Given the description of an element on the screen output the (x, y) to click on. 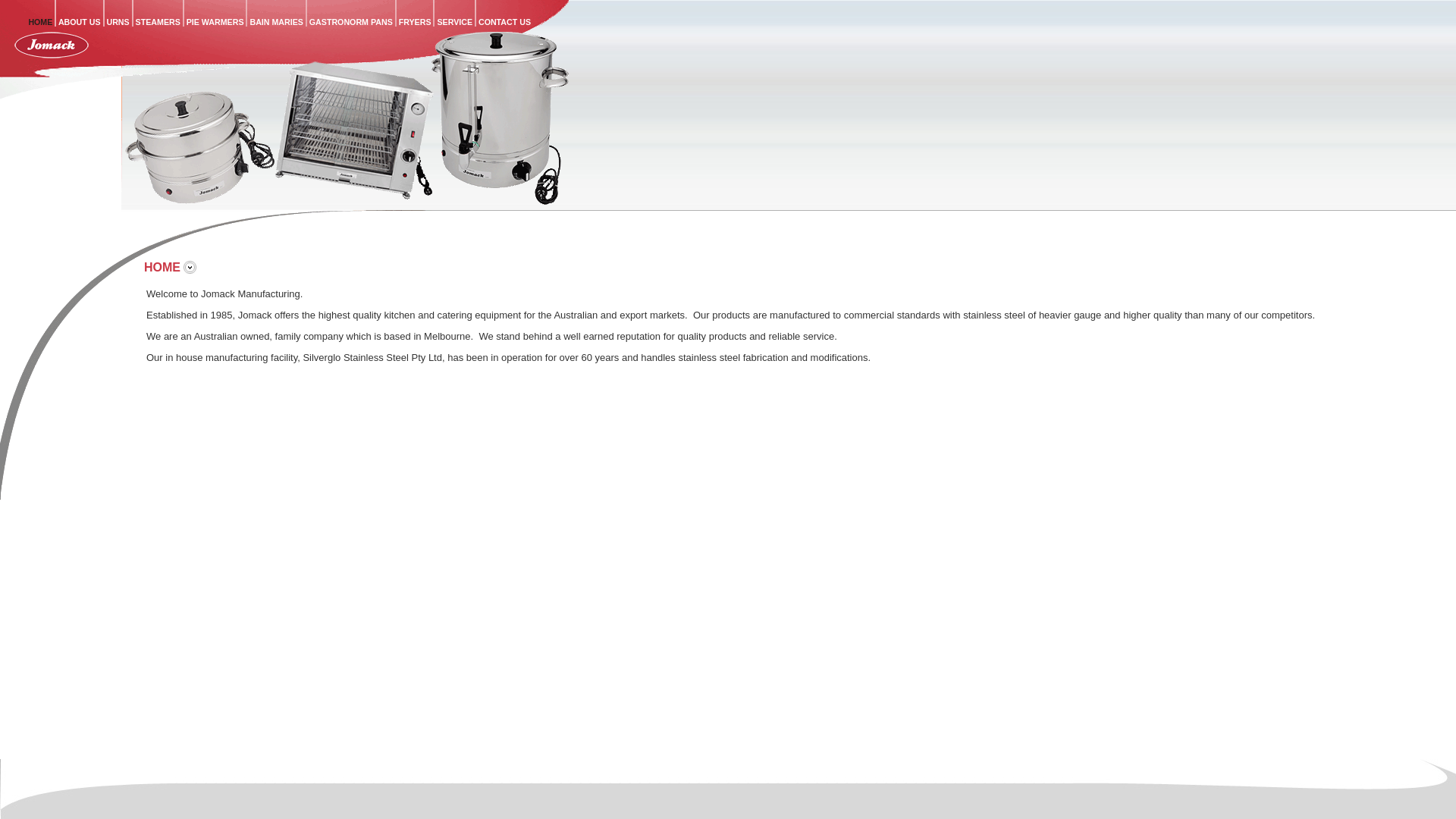
 URNS  Element type: text (117, 21)
HOME  Element type: text (41, 21)
 ABOUT US  Element type: text (79, 21)
 CONTACT US Element type: text (503, 21)
 BAIN MARIES  Element type: text (275, 21)
 SERVICE  Element type: text (454, 21)
 PIE WARMERS  Element type: text (215, 21)
 STEAMERS  Element type: text (157, 21)
 GASTRONORM PANS  Element type: text (351, 21)
 FRYERS  Element type: text (414, 21)
